Given the description of an element on the screen output the (x, y) to click on. 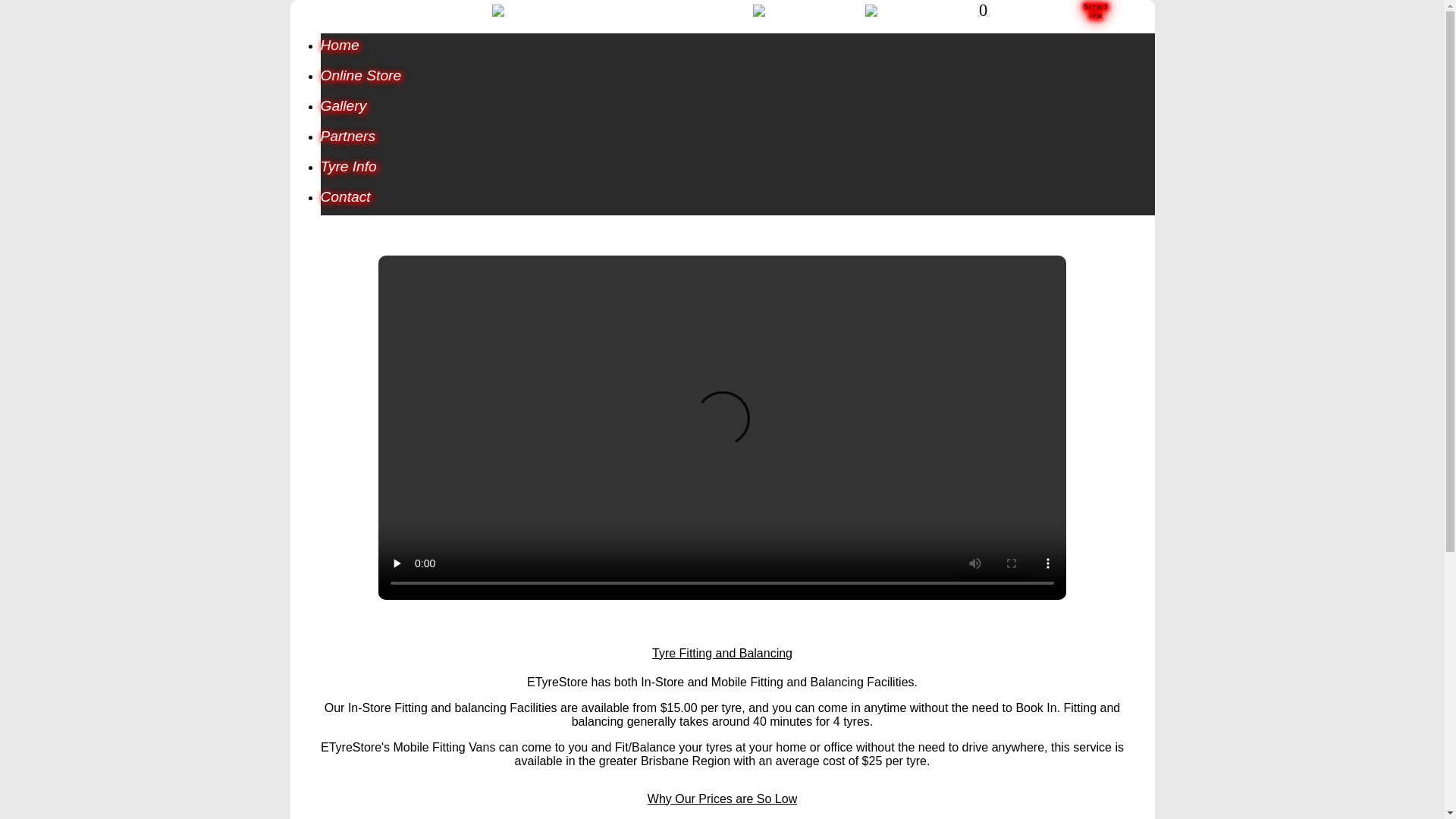
Tyre Info Element type: text (737, 169)
Contact Element type: text (737, 200)
0 Element type: text (983, 10)
Signed Out Element type: text (1095, 10)
Gallery Element type: text (737, 109)
Partners Element type: text (737, 139)
Home Element type: text (737, 48)
Online Store Element type: text (737, 78)
